Given the description of an element on the screen output the (x, y) to click on. 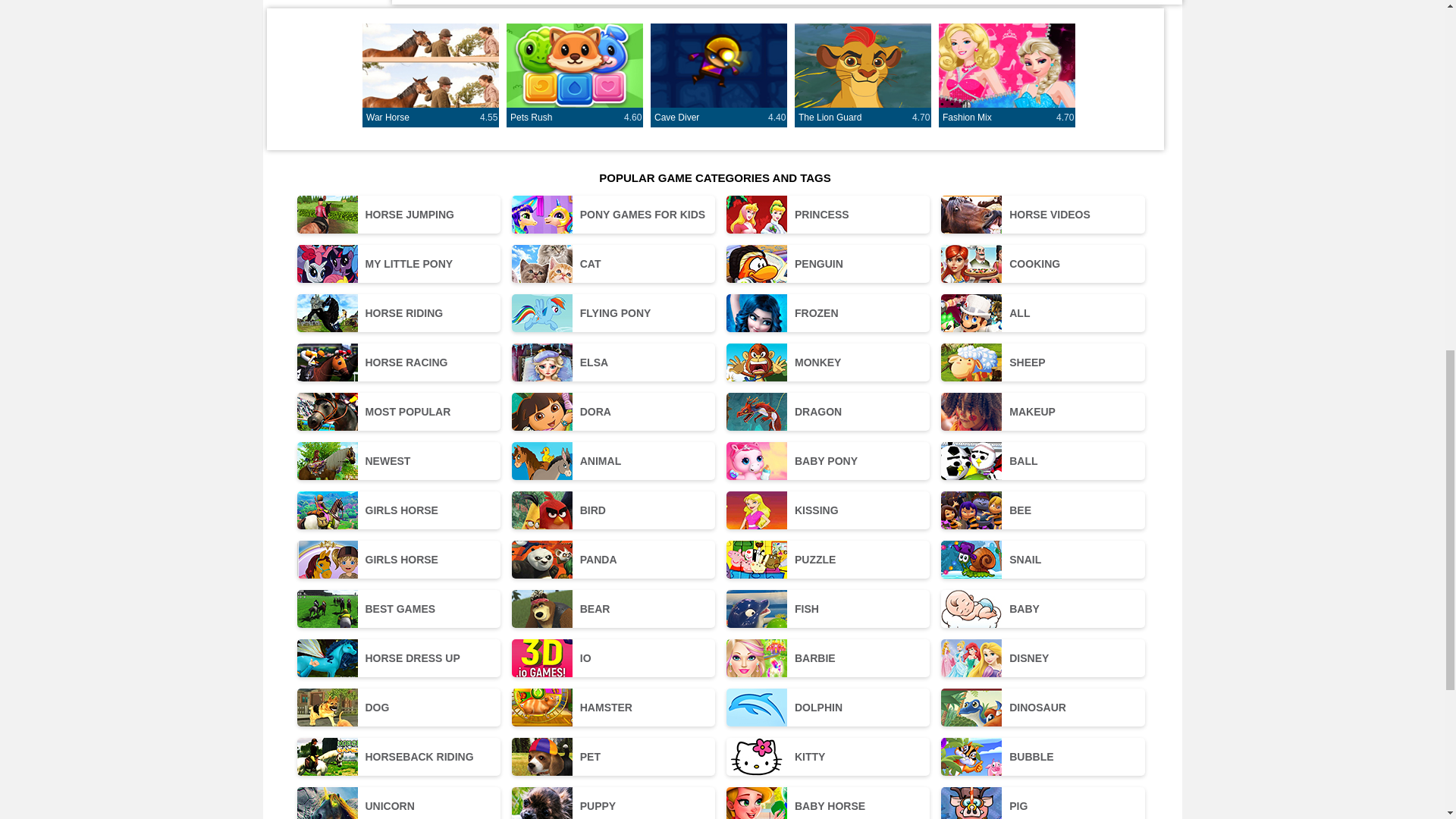
HORSE RIDING (862, 117)
HORSE RACING (1007, 117)
Fullscreen (574, 117)
HORSE JUMPING (430, 117)
GIRLS HORSE (718, 117)
MY LITTLE PONY (398, 313)
NEWEST (398, 362)
